Given the description of an element on the screen output the (x, y) to click on. 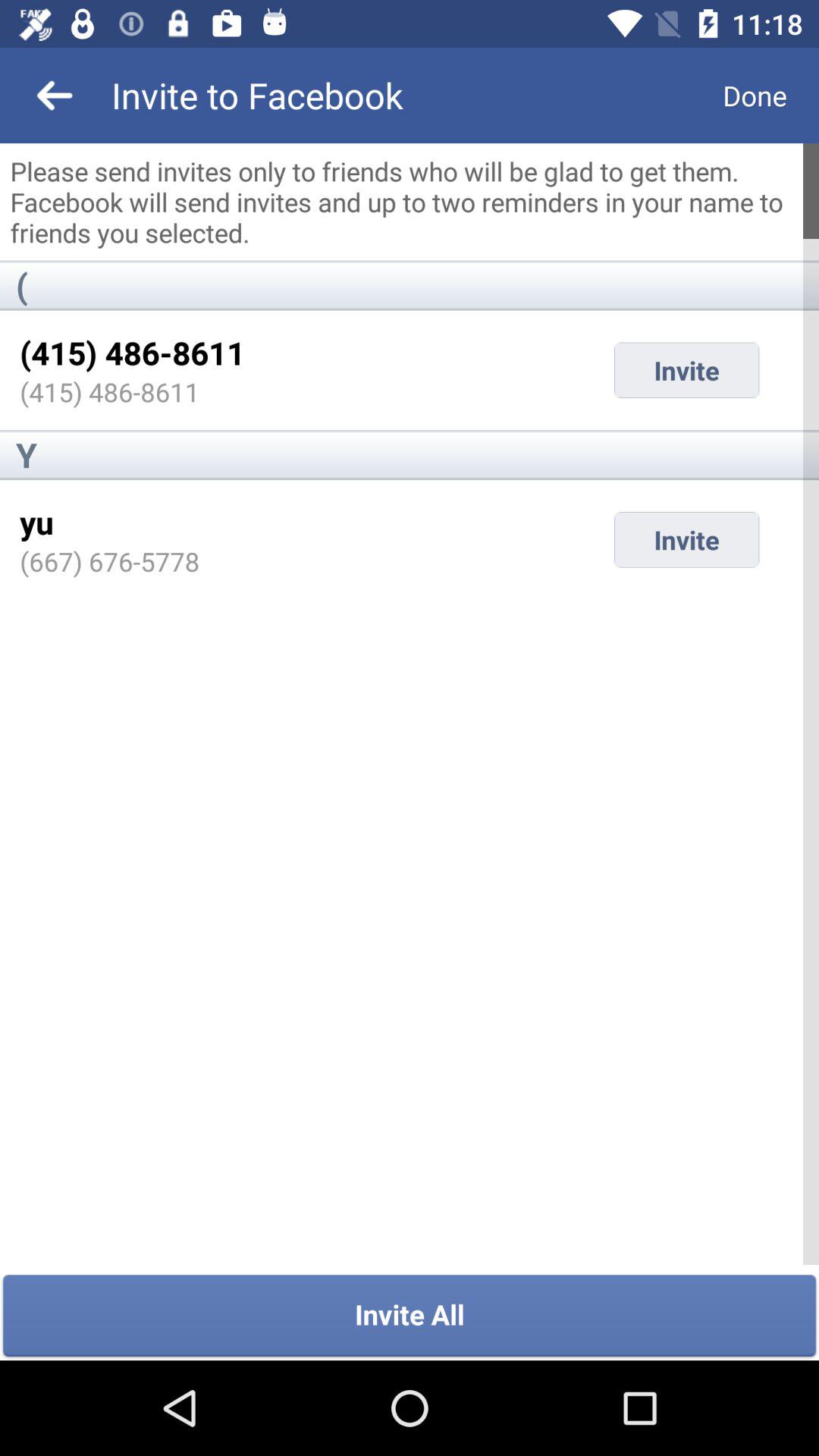
turn on the icon below the y (36, 521)
